Given the description of an element on the screen output the (x, y) to click on. 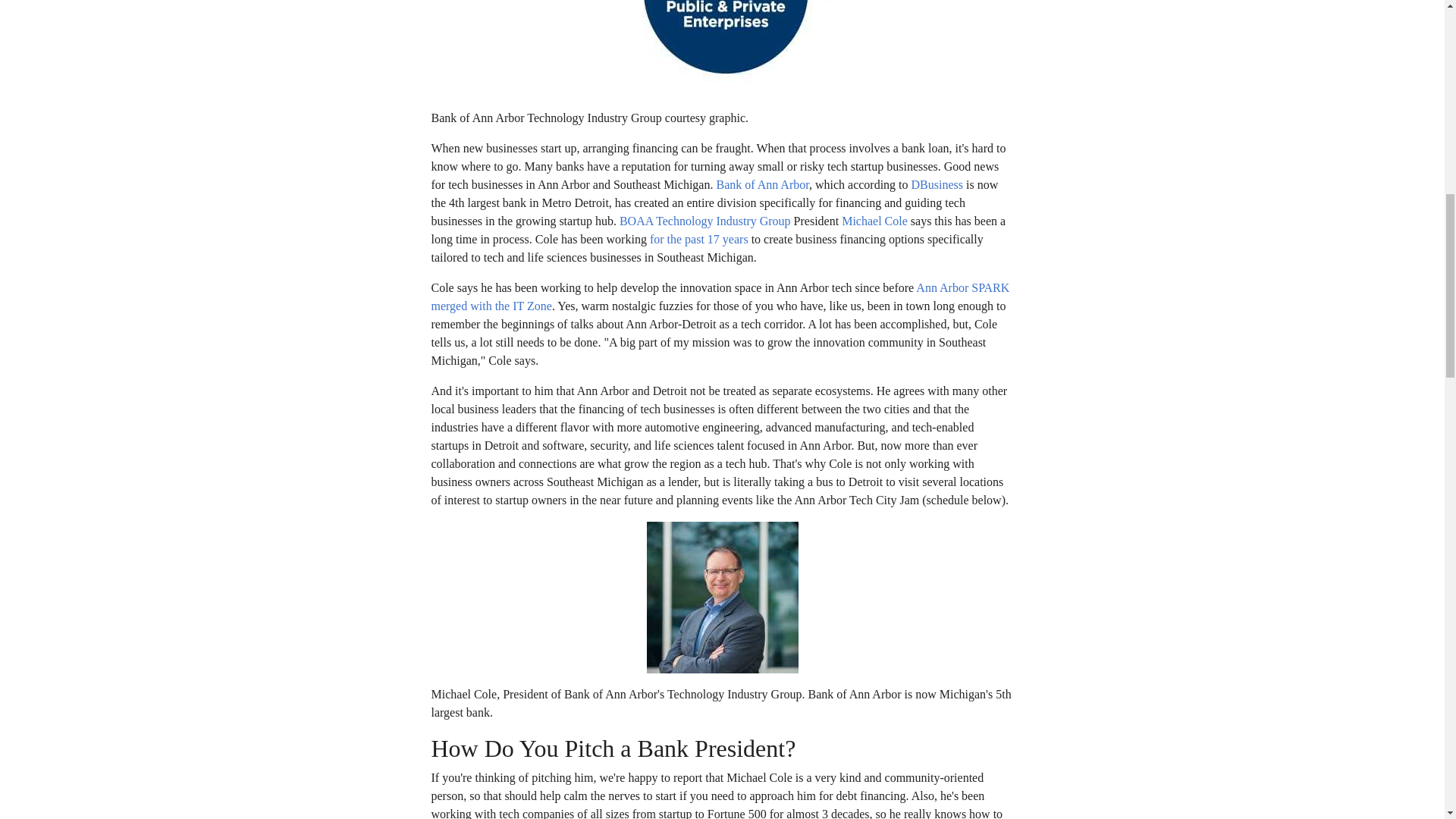
for the past 17 years (698, 238)
merged with the IT Zone (490, 305)
Bank of Ann Arbor (762, 184)
BOAA Technology Industry Group (705, 220)
Ann Arbor SPARK (962, 287)
DBusiness (936, 184)
Michael Cole (874, 220)
